Given the description of an element on the screen output the (x, y) to click on. 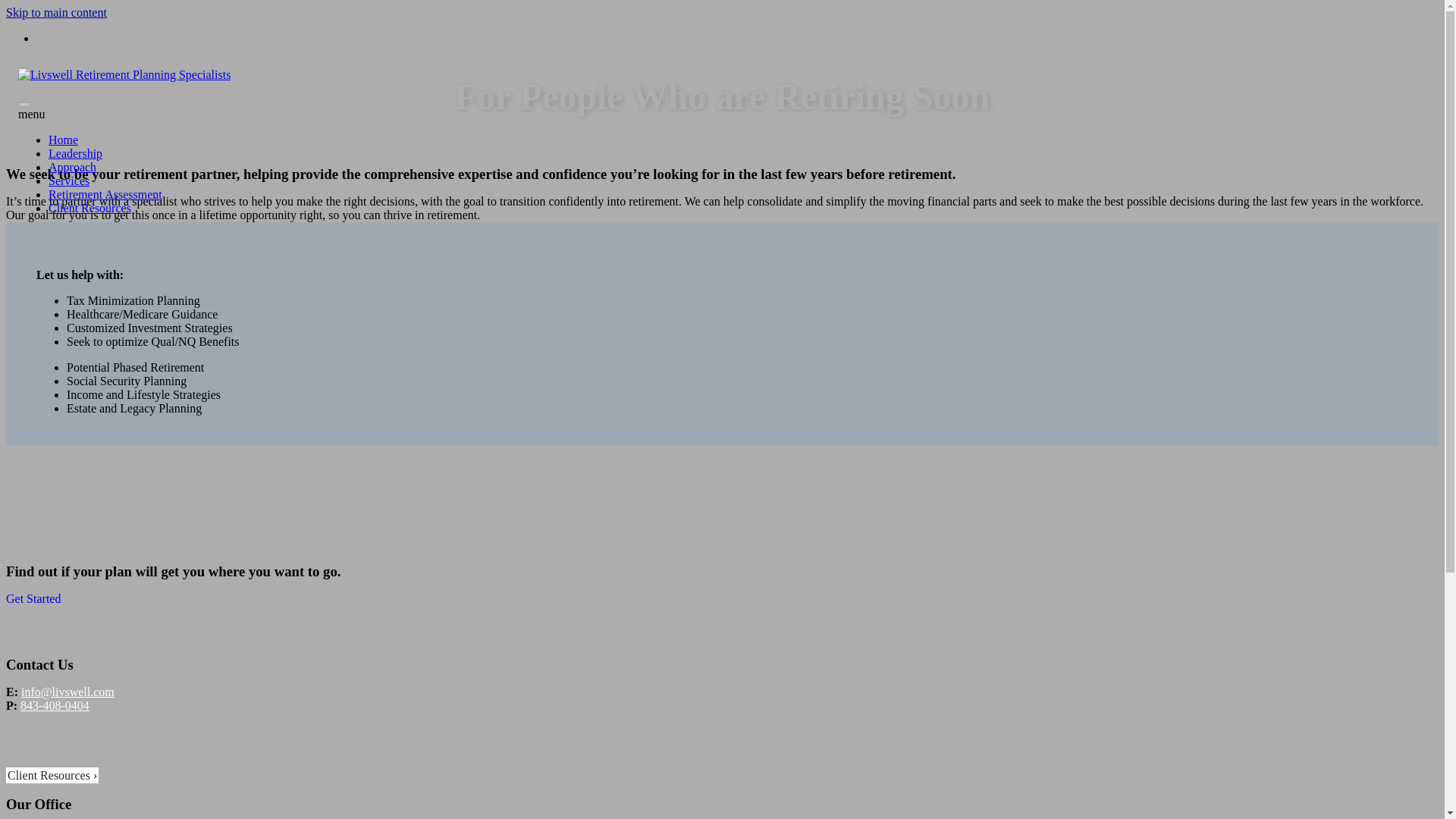
Client Resources (52, 777)
Client Resources (89, 207)
Get Started With the Retirement Assessment (33, 601)
About Our Approach (72, 166)
Getting Started With Your Retirement Assessment (104, 194)
What We Do at Livswell (68, 180)
843-408-0404 (54, 718)
Retirement Assessment (104, 194)
Services (68, 180)
Leadership (74, 153)
Client Resources (89, 207)
Home (63, 139)
Approach (72, 166)
Skip to main content (55, 11)
About Our Team at Livswell Retirement Planning Specialists (74, 153)
